Given the description of an element on the screen output the (x, y) to click on. 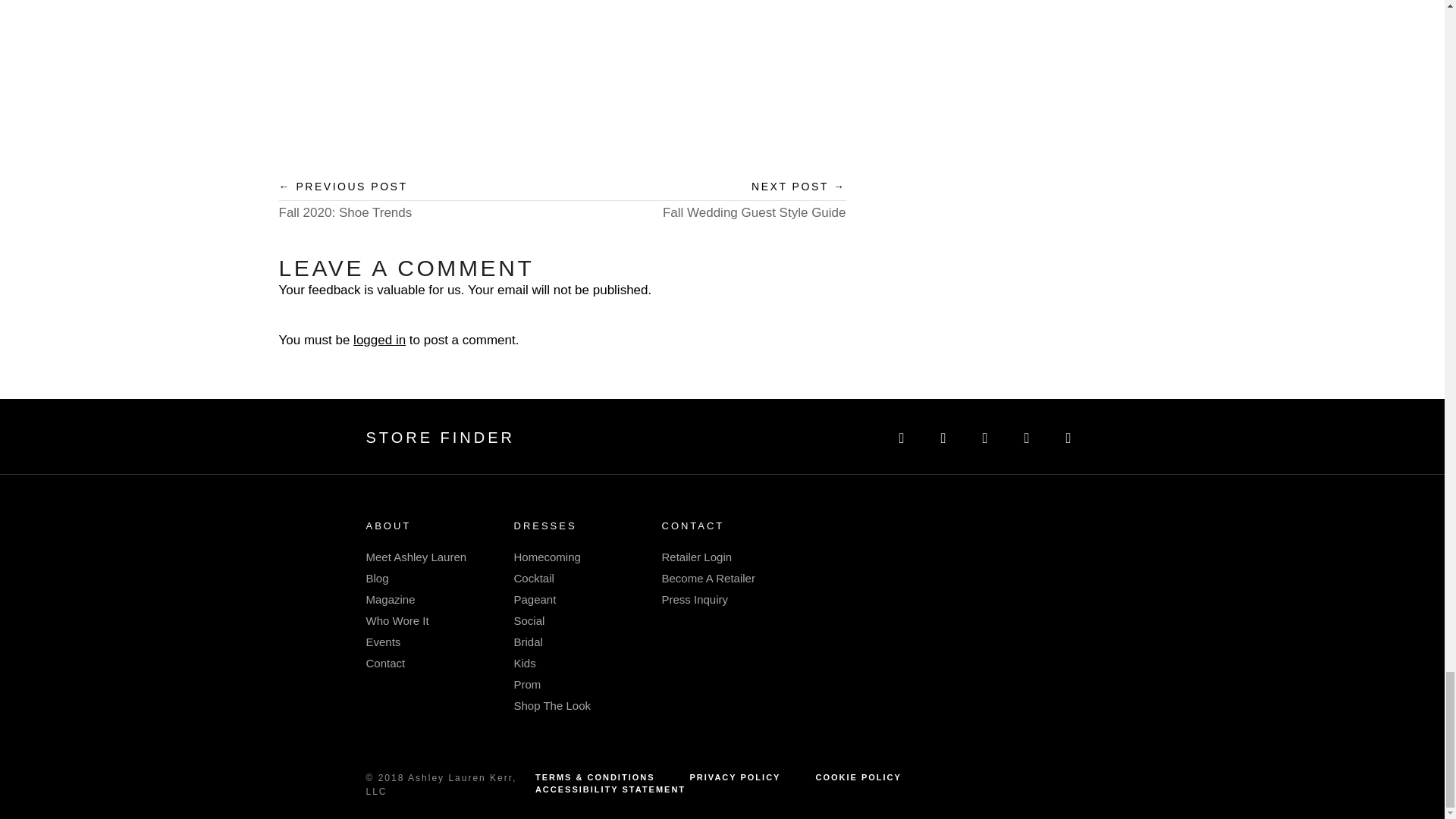
Youtube (1068, 436)
Instagram (942, 436)
Pinterest (984, 436)
Facebook (901, 436)
Twitter (1026, 436)
